Given the description of an element on the screen output the (x, y) to click on. 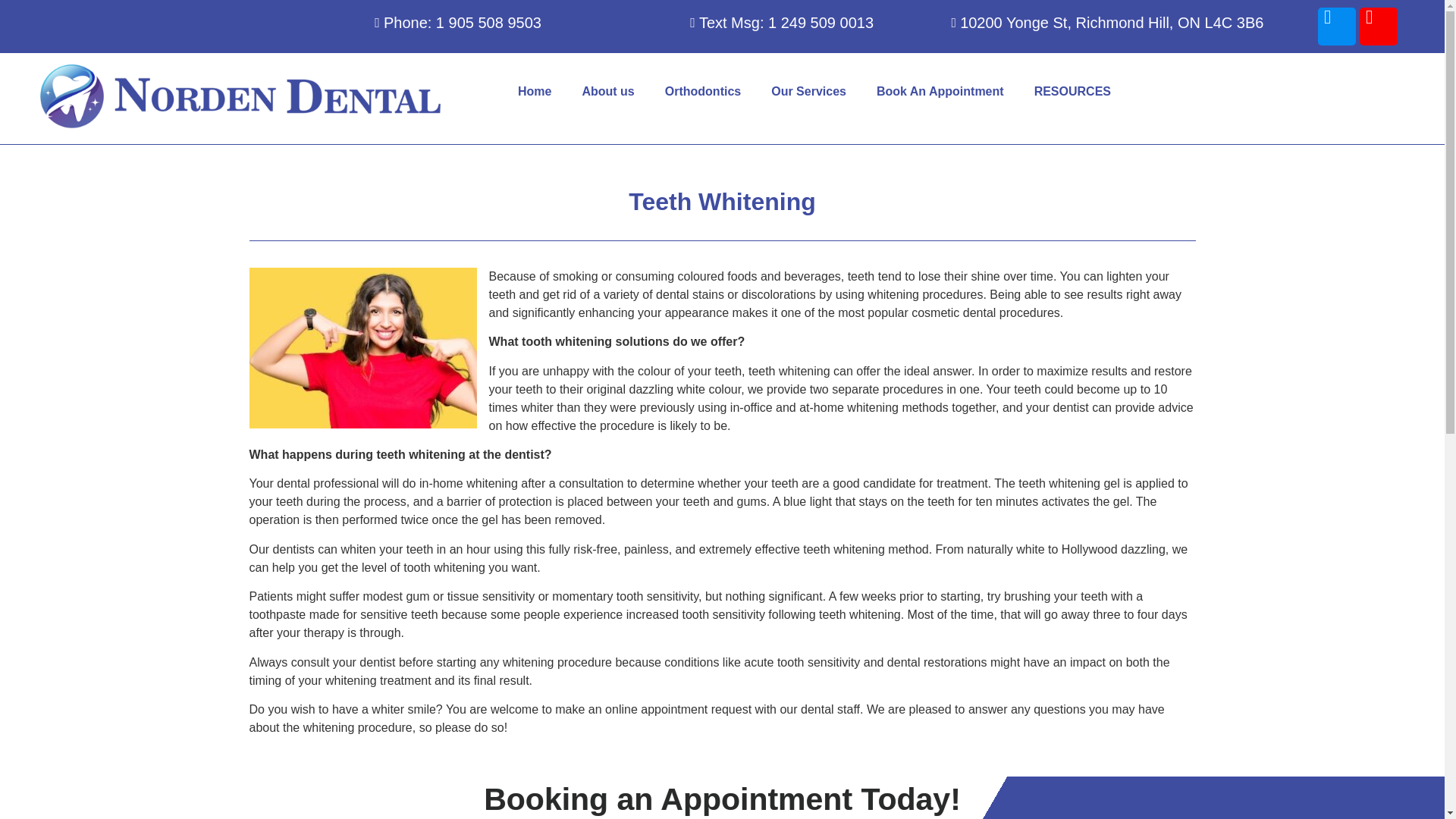
Our Services (808, 91)
Orthodontics (702, 91)
Phone: 1 905 508 9503 (274, 22)
10200 Yonge St, Richmond Hill, ON L4C 3B6 (1075, 22)
Book An Appointment (940, 91)
Text Msg: 1 249 509 0013 (714, 22)
RESOURCES (1072, 91)
About us (607, 91)
Home (534, 91)
